Given the description of an element on the screen output the (x, y) to click on. 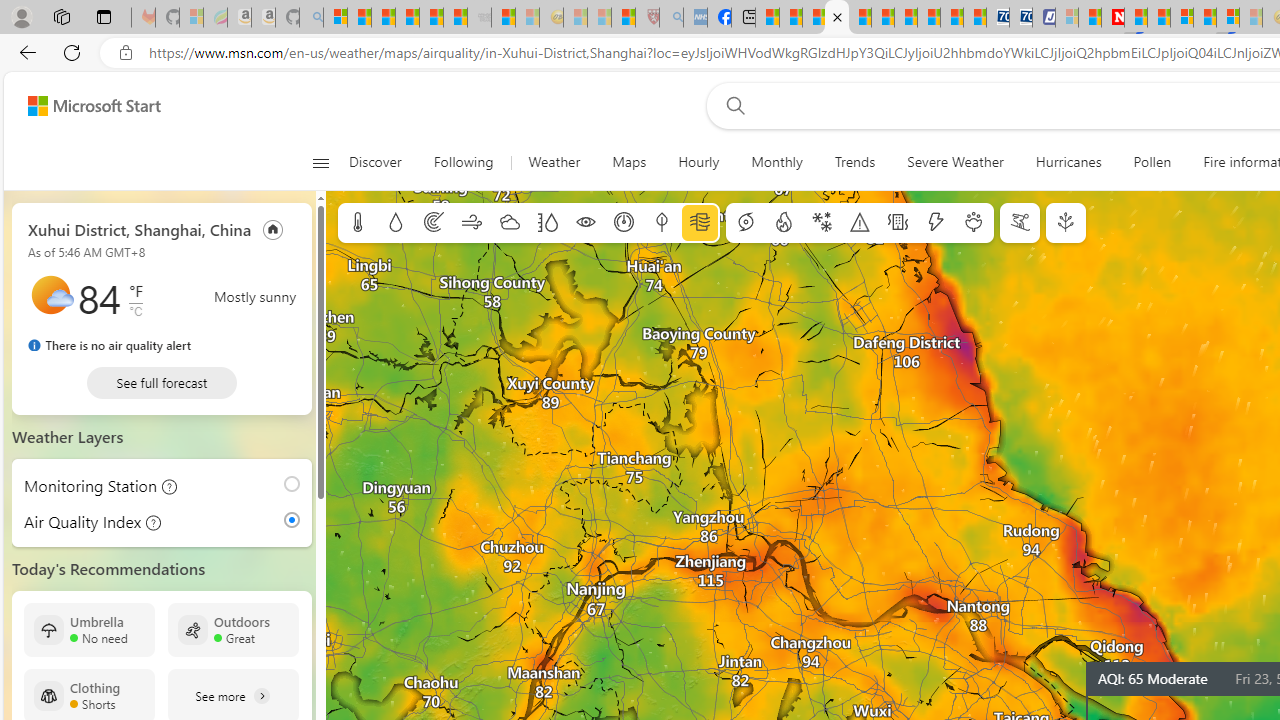
Monitoring Station (84, 485)
Temperature (358, 223)
Lightning (935, 223)
Hourly (698, 162)
Monthly (776, 162)
Air Quality Index (76, 521)
Hurricanes (1068, 162)
MSNBC - MSN (767, 17)
Outdoors Great (233, 629)
Robert H. Shmerling, MD - Harvard Health - Sleeping (647, 17)
